Given the description of an element on the screen output the (x, y) to click on. 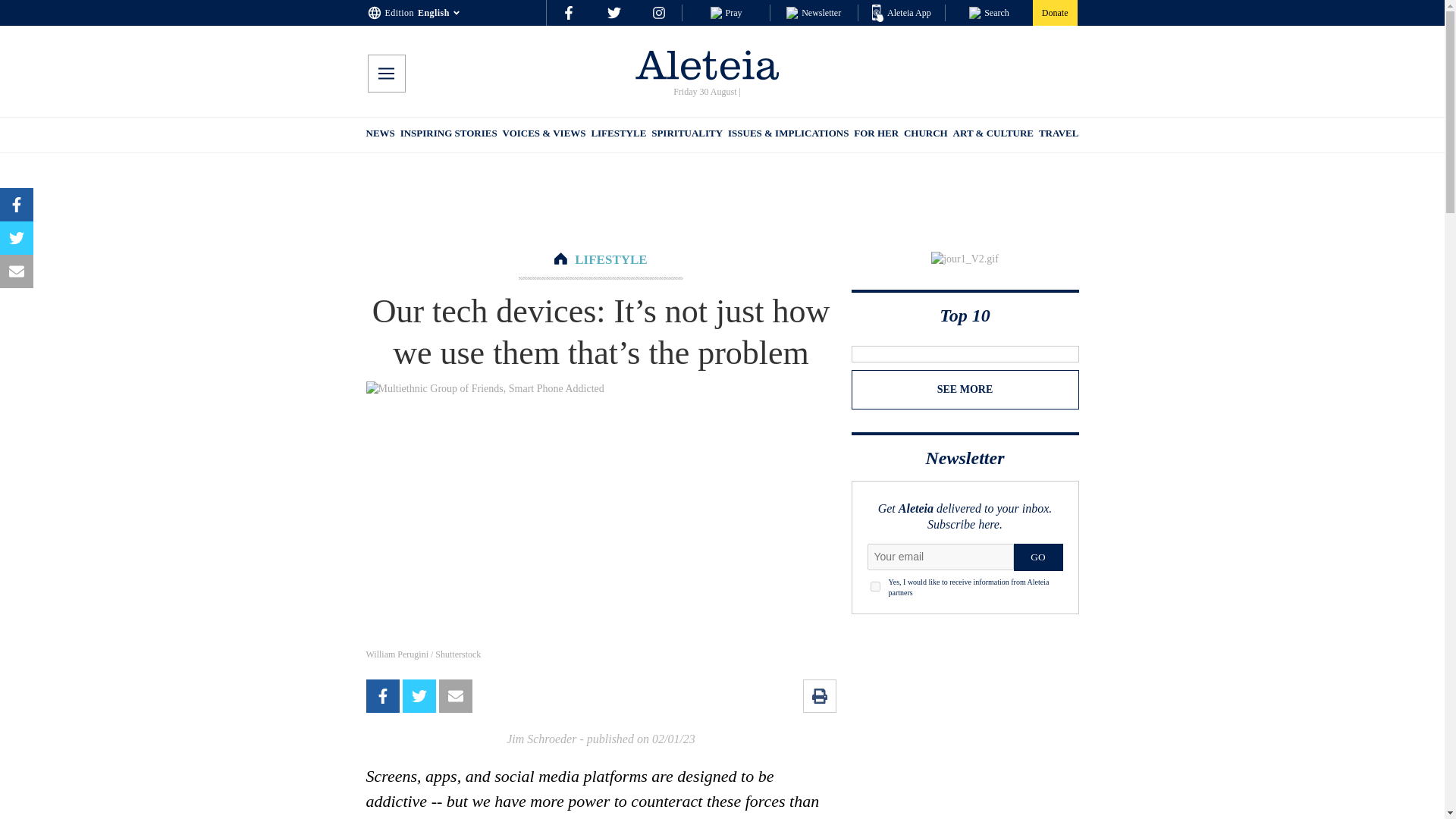
SPIRITUALITY (686, 134)
LIFESTYLE (618, 134)
INSPIRING STORIES (448, 134)
CHURCH (925, 134)
Donate (1054, 12)
Newsletter (813, 12)
Pray (725, 12)
1 (875, 586)
LIFESTYLE (610, 259)
TRAVEL (1058, 134)
